Given the description of an element on the screen output the (x, y) to click on. 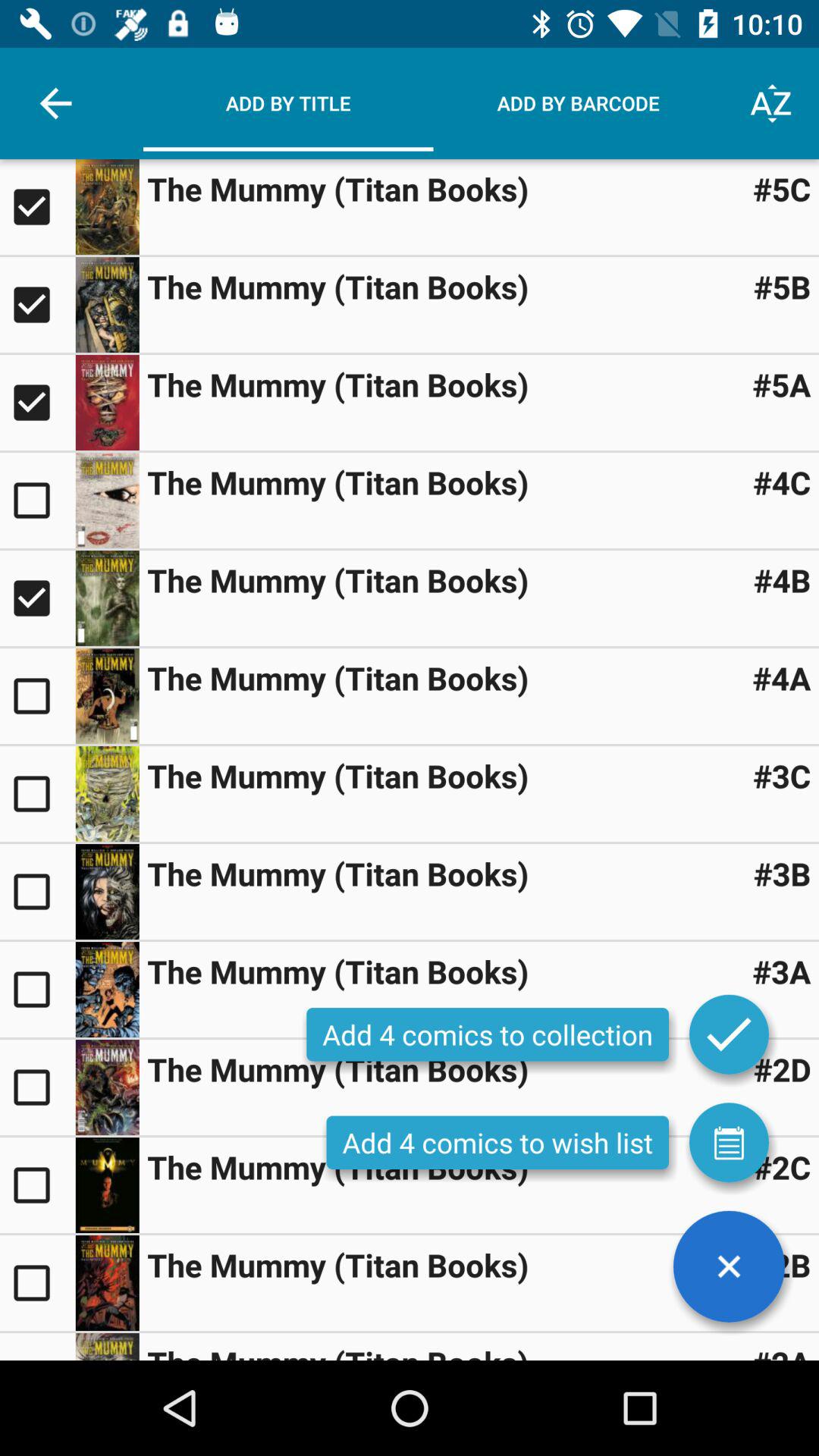
click to add to comics to collection (37, 500)
